Given the description of an element on the screen output the (x, y) to click on. 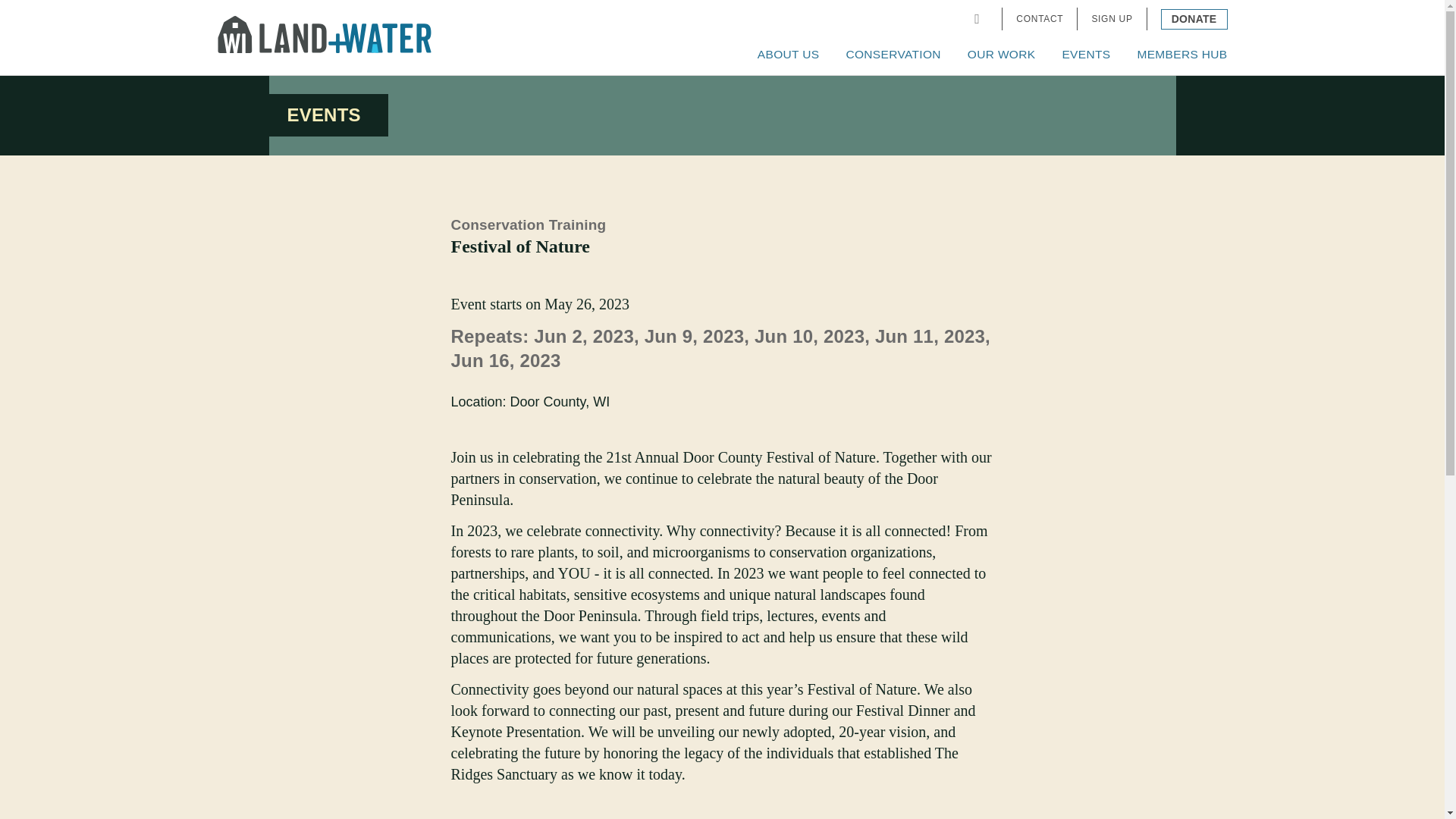
DONATE (1193, 19)
ABOUT US (788, 54)
SIGN UP (1111, 18)
CONSERVATION (892, 54)
EVENTS (1085, 54)
CONTACT (1039, 18)
OUR WORK (1001, 54)
MEMBERS HUB (1182, 54)
